Given the description of an element on the screen output the (x, y) to click on. 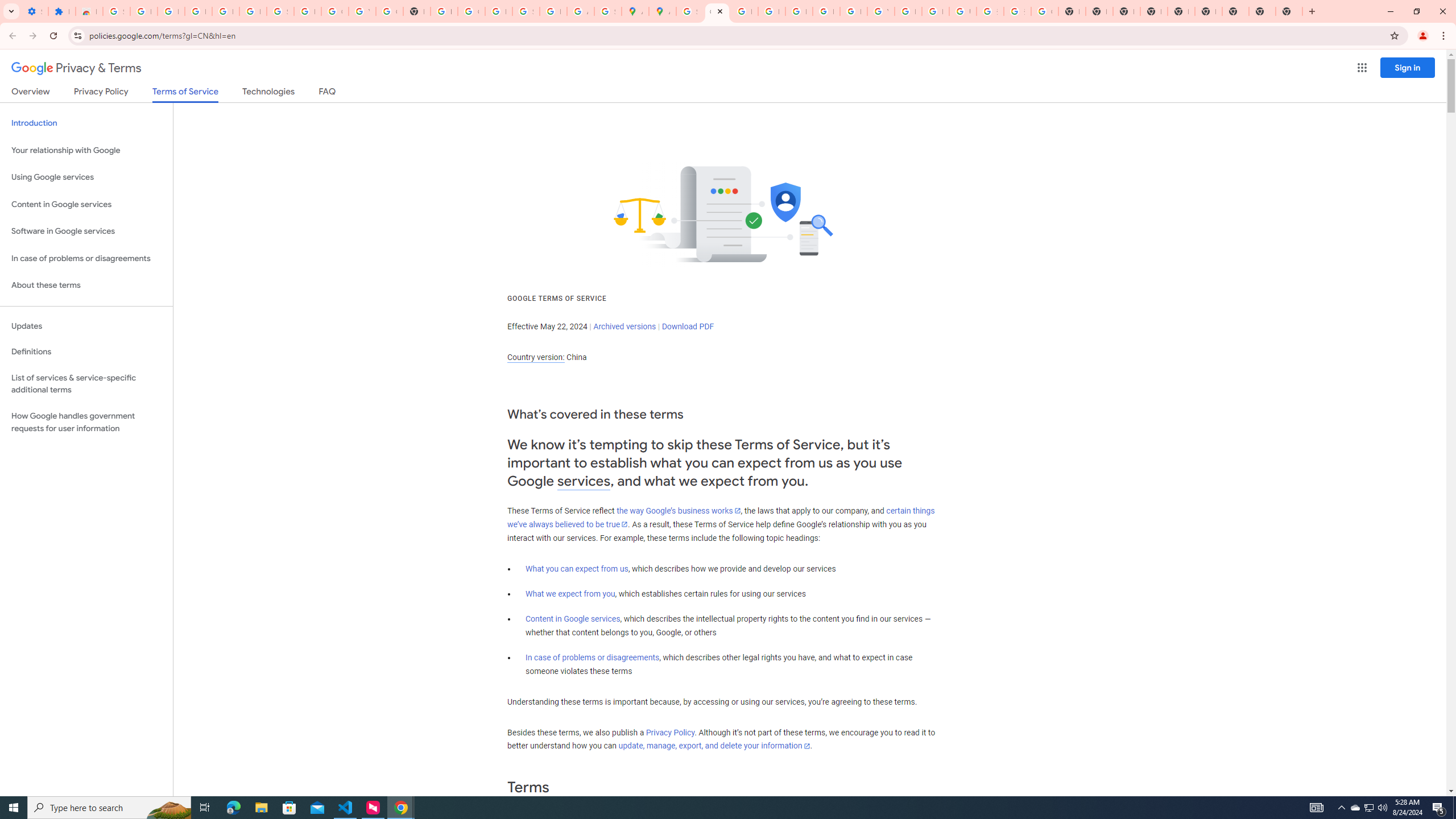
Archived versions (624, 326)
Sign in - Google Accounts (690, 11)
Sign in - Google Accounts (116, 11)
Sign in - Google Accounts (525, 11)
Content in Google services (572, 618)
What we expect from you (570, 593)
